Given the description of an element on the screen output the (x, y) to click on. 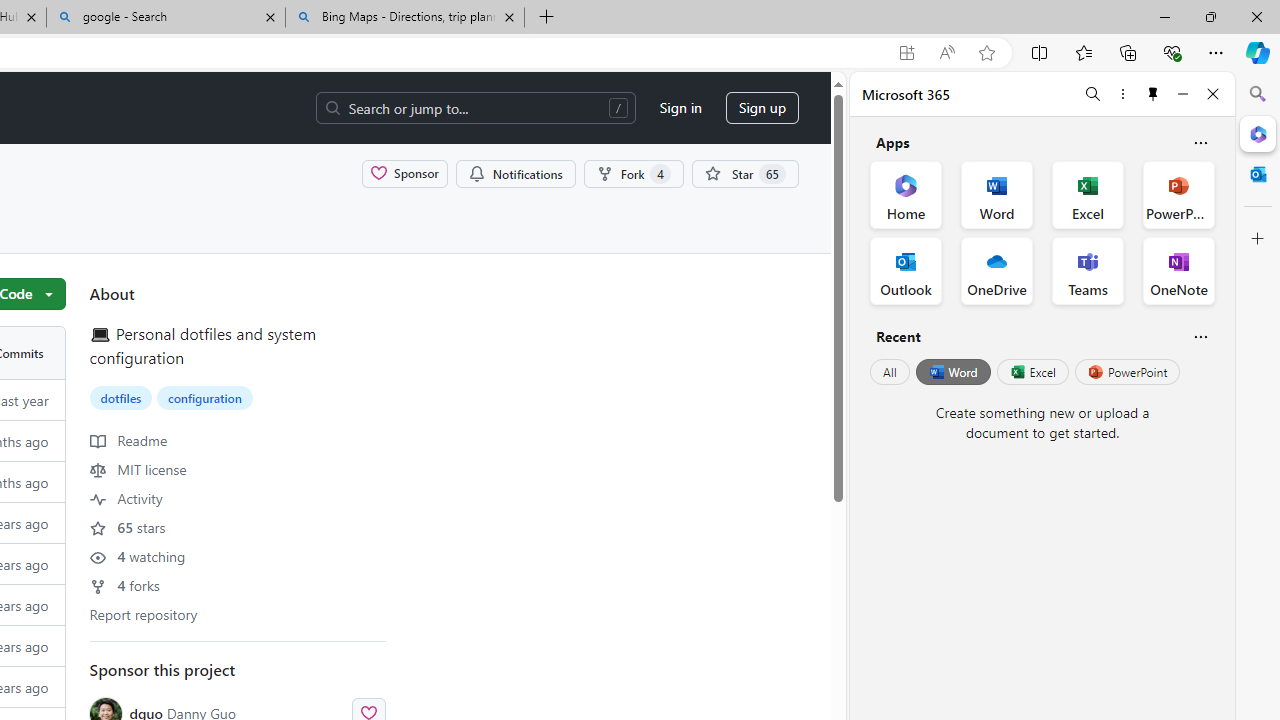
Outlook (1258, 174)
You must be signed in to star a repository (744, 173)
More options (1122, 93)
Sponsor (404, 173)
Report repository (143, 614)
4 forks (124, 584)
Sign up (761, 107)
Sign in (680, 107)
google - Search (166, 17)
Excel (1031, 372)
4 watching (137, 555)
